Given the description of an element on the screen output the (x, y) to click on. 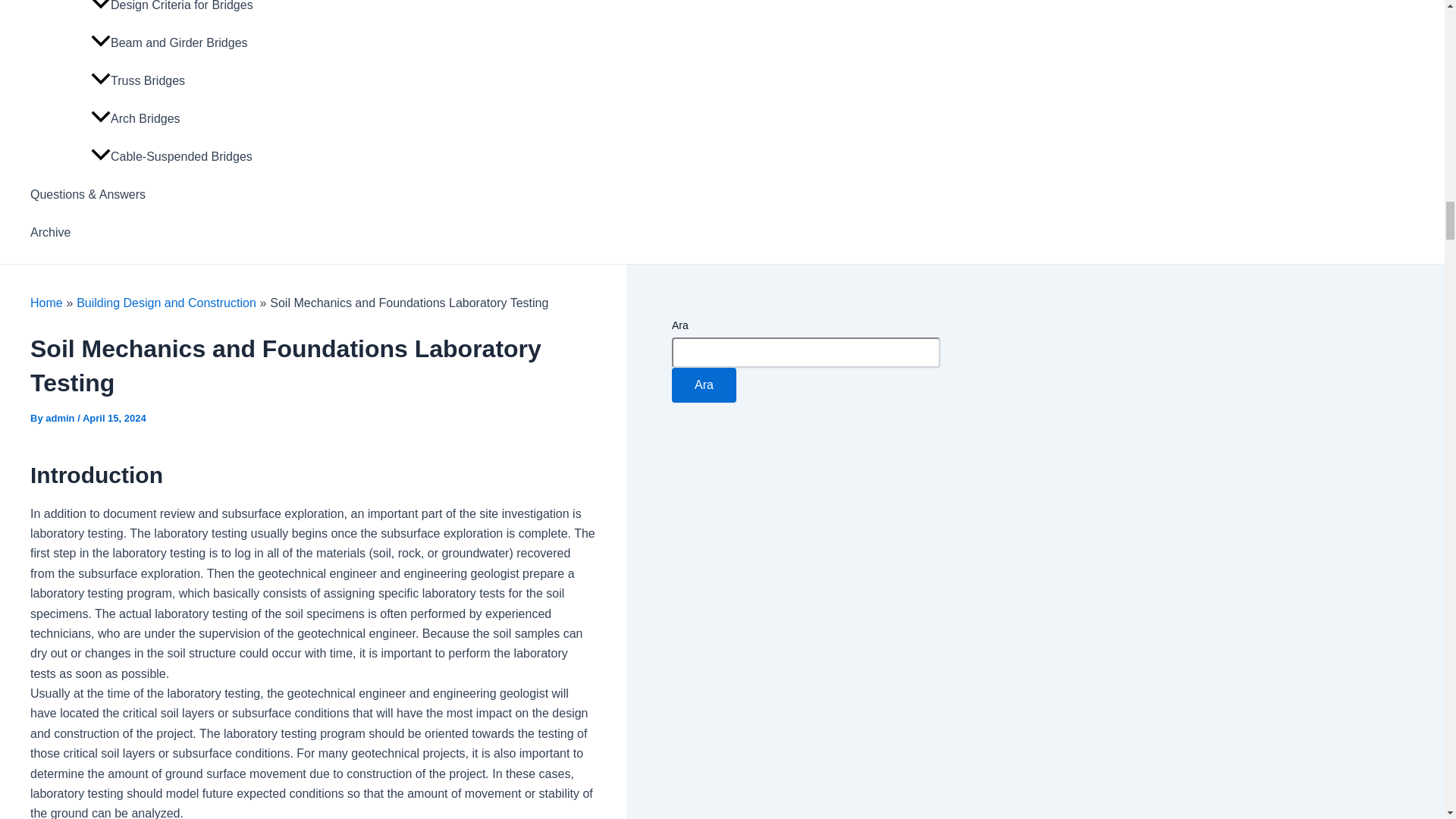
View all posts by admin (61, 418)
